Given the description of an element on the screen output the (x, y) to click on. 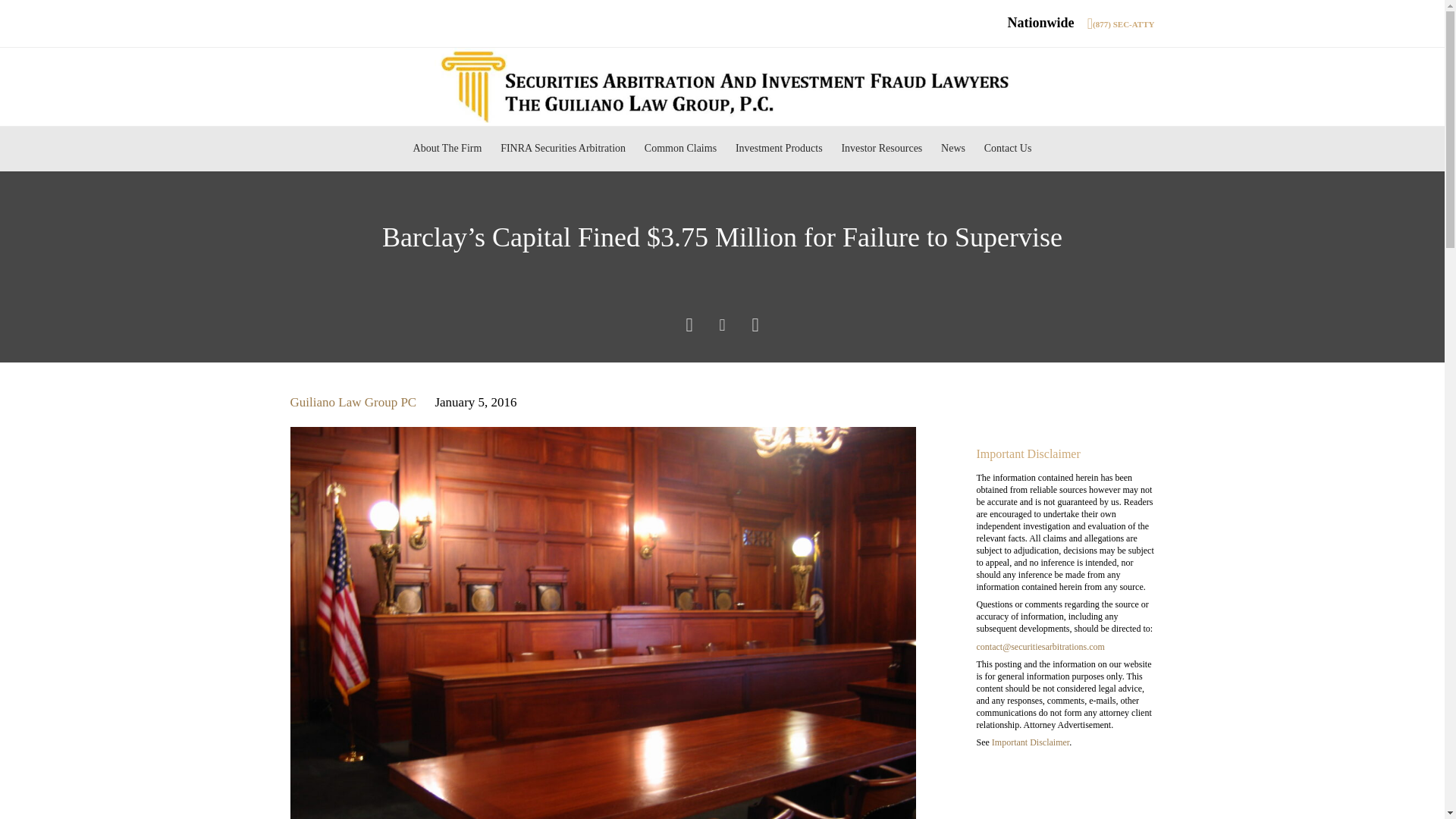
FINRA Securities Arbitration (563, 148)
Posts by Guiliano Law Group PC (352, 401)
Common Claims (679, 148)
About The Firm (446, 148)
